Given the description of an element on the screen output the (x, y) to click on. 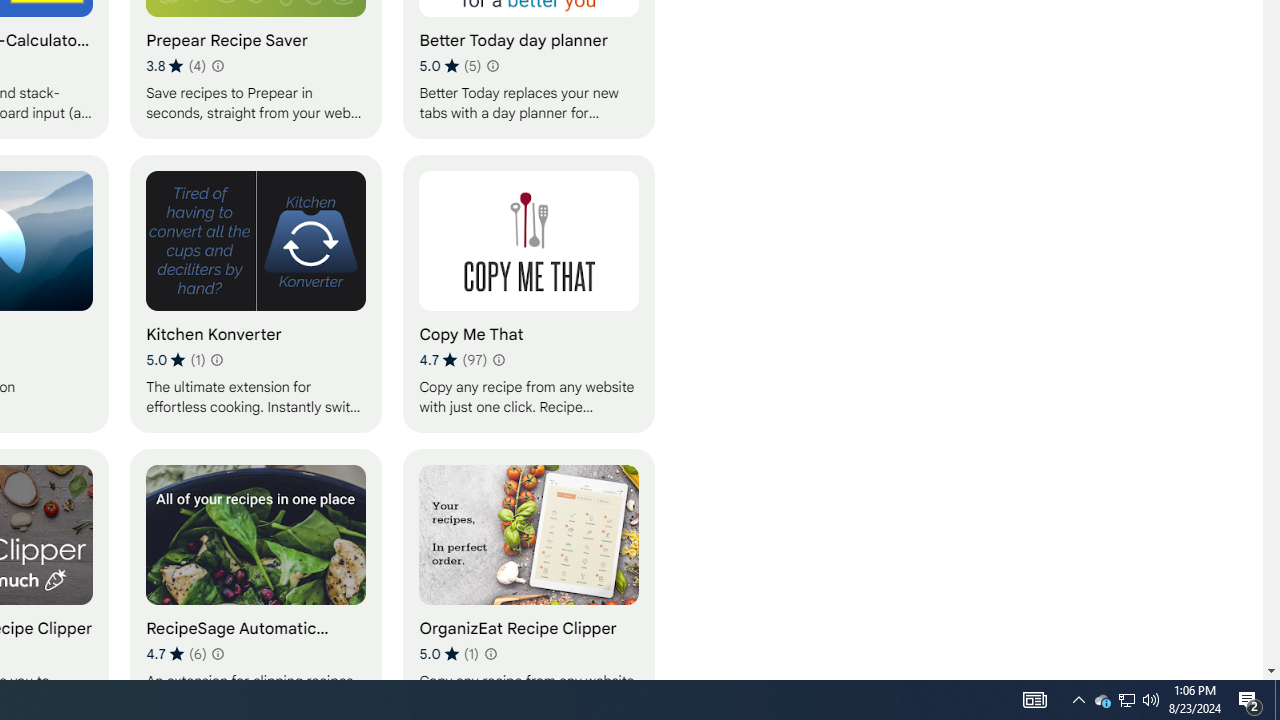
Average rating 4.7 out of 5 stars. 6 ratings. (176, 653)
Kitchen Konverter (256, 293)
Learn more about results and reviews "Prepear Recipe Saver" (216, 65)
Learn more about results and reviews "Kitchen Konverter" (216, 359)
Average rating 5 out of 5 stars. 1 rating. (448, 653)
Average rating 5 out of 5 stars. 5 ratings. (450, 66)
Copy Me That (529, 293)
Average rating 4.7 out of 5 stars. 97 ratings. (452, 359)
Learn more about results and reviews "Copy Me That" (498, 359)
Average rating 3.8 out of 5 stars. 4 ratings. (176, 66)
